Given the description of an element on the screen output the (x, y) to click on. 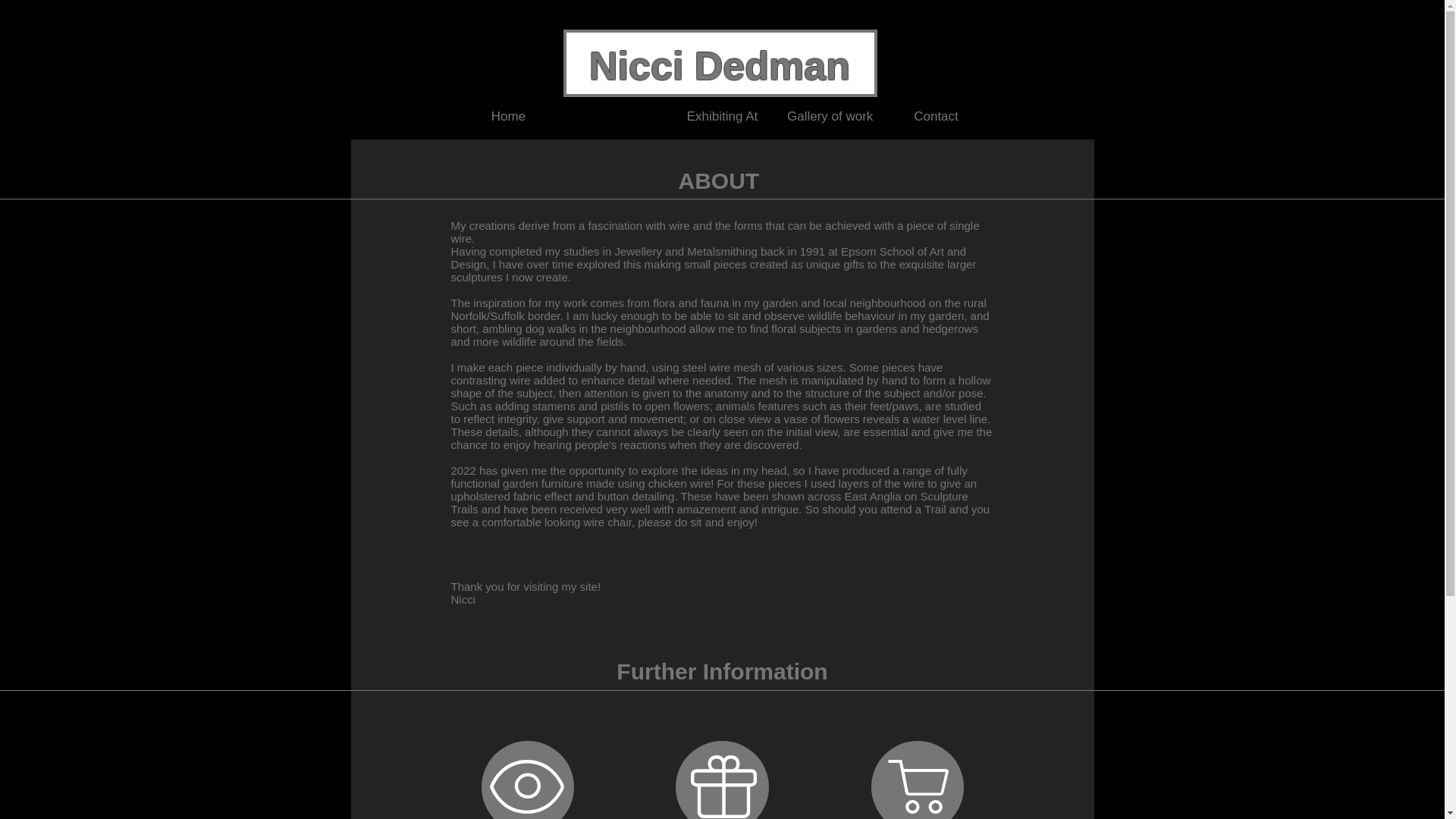
Contact (936, 116)
About (615, 116)
Exhibiting At (722, 116)
Home (508, 116)
Gallery of work (829, 116)
Nicci Dedman (719, 65)
